Given the description of an element on the screen output the (x, y) to click on. 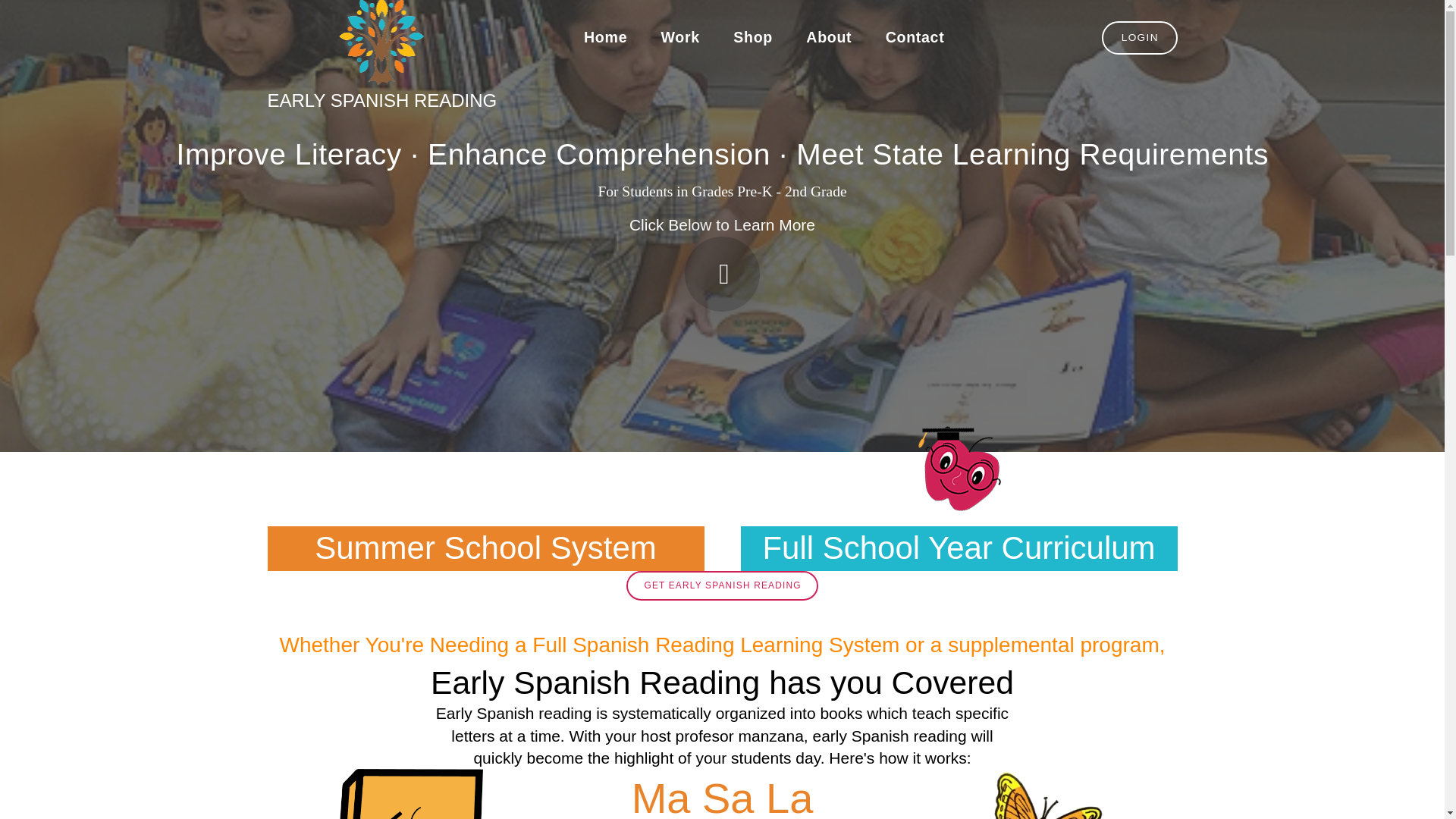
Home (606, 38)
About (828, 38)
Contact (913, 38)
LOGIN (1139, 37)
Work (679, 38)
GET EARLY SPANISH READING (721, 585)
Shop (752, 38)
